Given the description of an element on the screen output the (x, y) to click on. 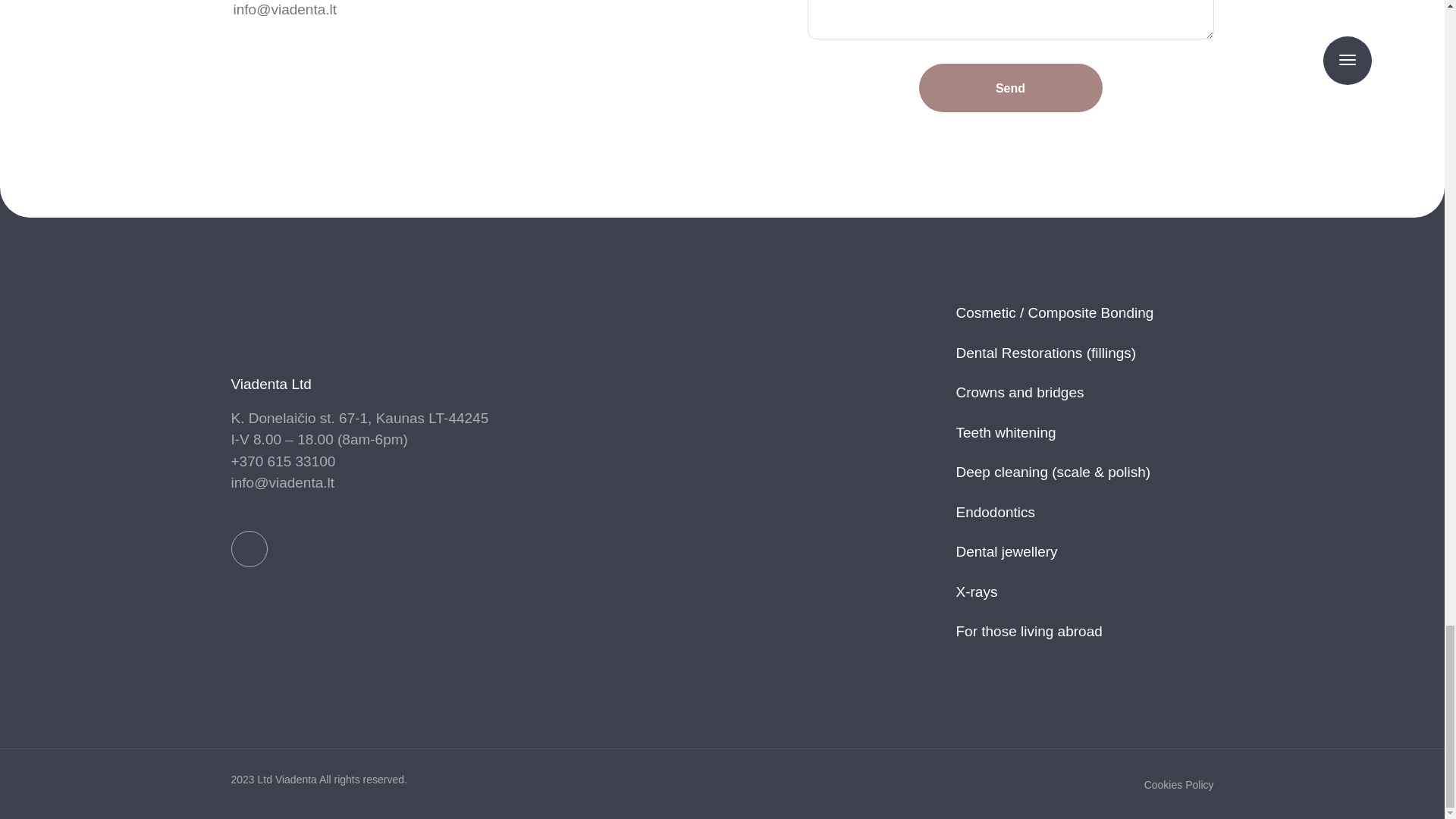
Crowns and bridges (1019, 393)
Send (1010, 87)
Teeth whitening (1005, 433)
Send (1010, 87)
